Given the description of an element on the screen output the (x, y) to click on. 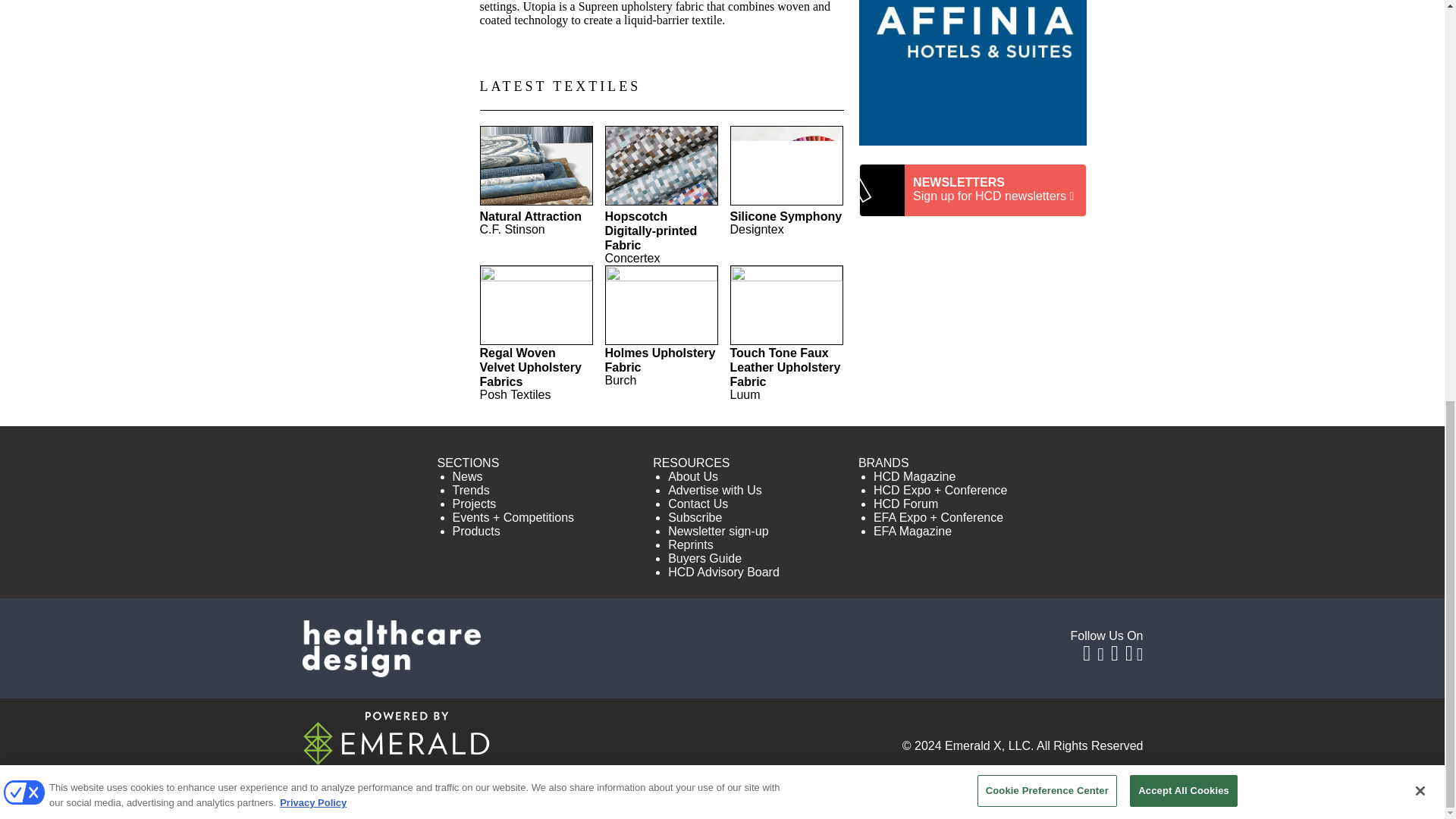
about (456, 796)
your-privacy-choices (844, 796)
careers (514, 796)
terms-of-use (986, 796)
Company Logo (24, 15)
privacy-policy (1088, 796)
authorized-service-providers (656, 796)
